Given the description of an element on the screen output the (x, y) to click on. 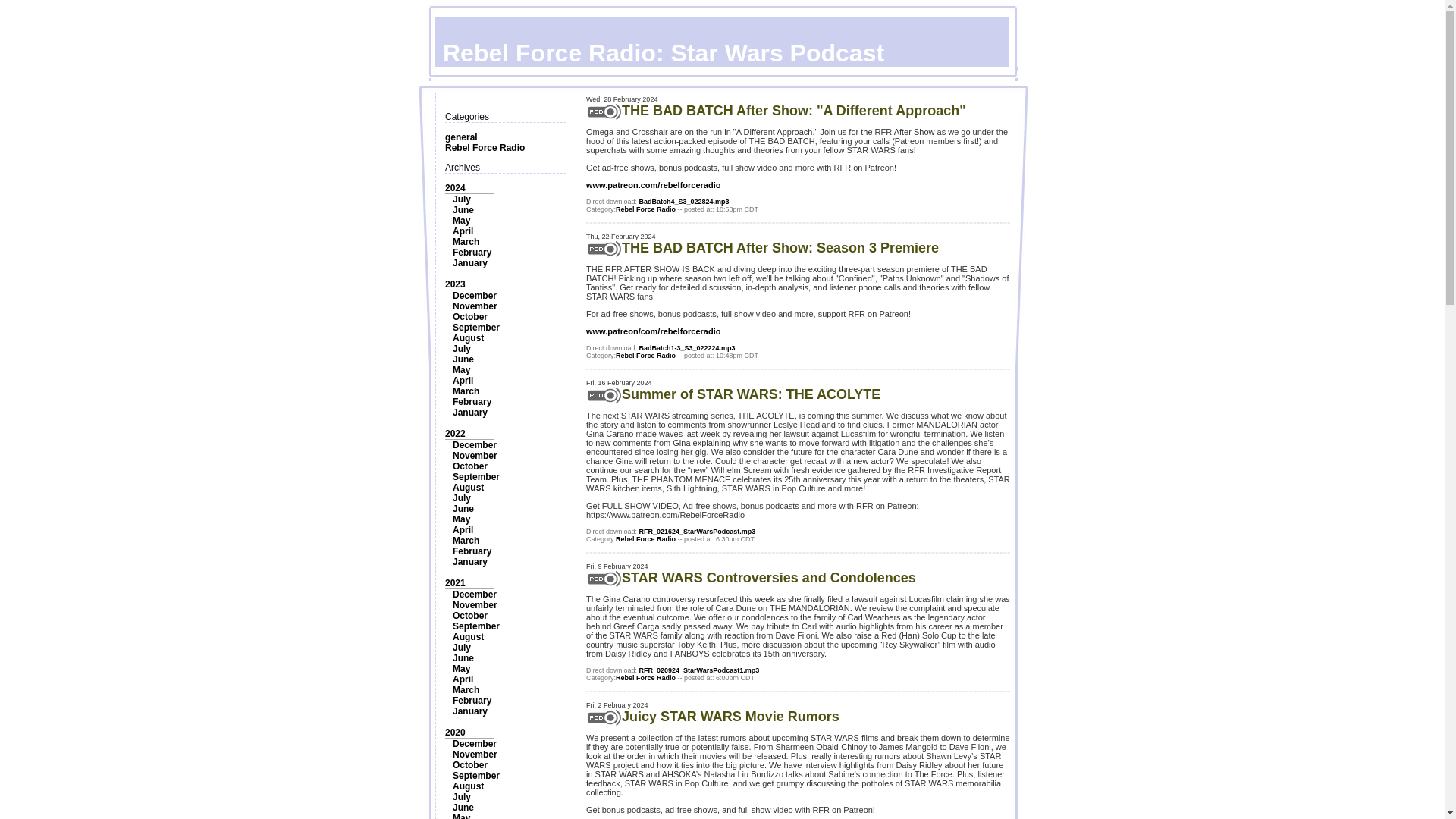
October (469, 317)
November (474, 455)
December (474, 444)
May (461, 369)
September (475, 327)
July (461, 498)
April (462, 231)
November (474, 604)
2021 (455, 583)
July (461, 348)
July (461, 199)
November (474, 306)
March (465, 241)
May (461, 519)
2022 (455, 433)
